Given the description of an element on the screen output the (x, y) to click on. 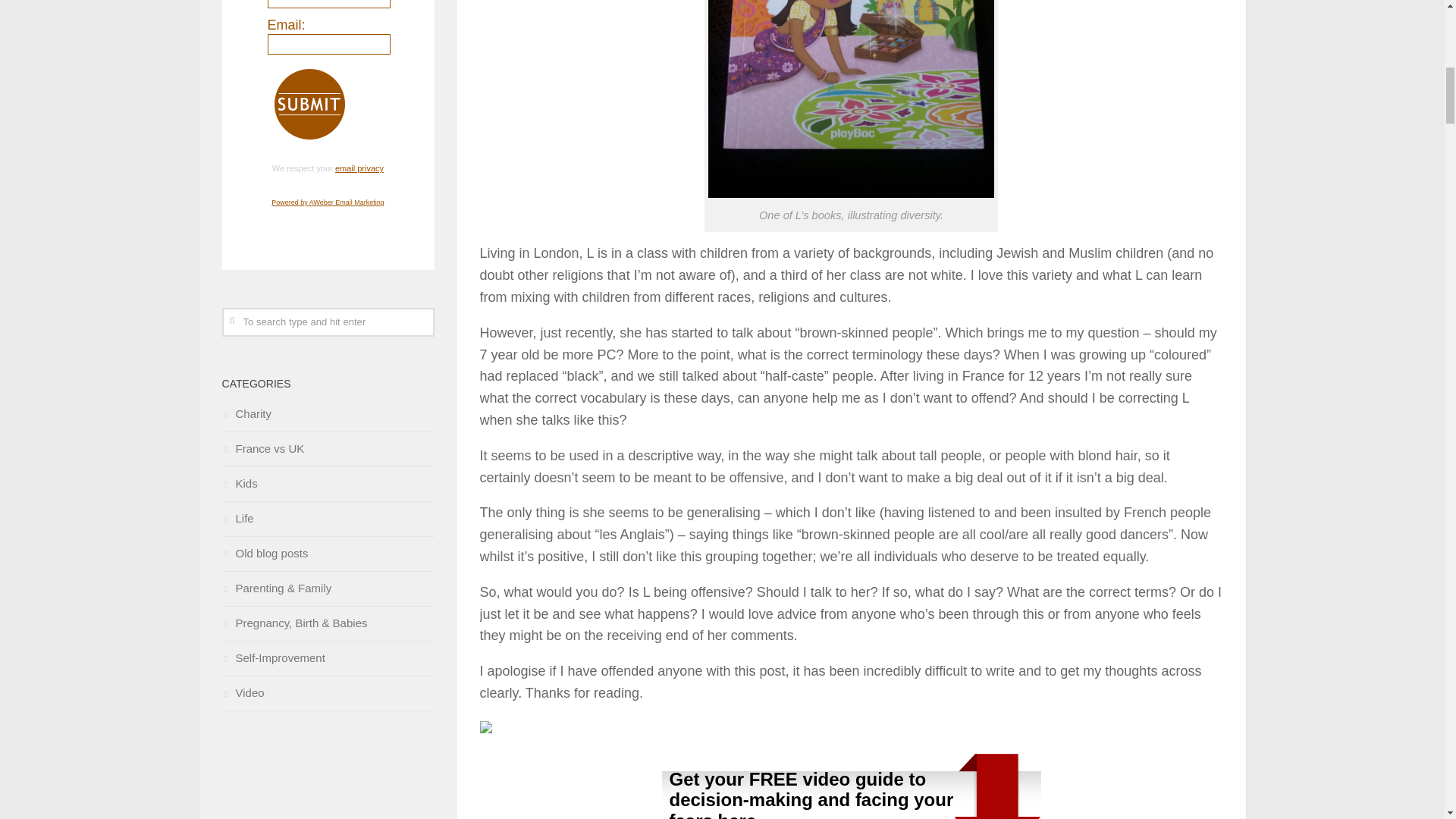
To search type and hit enter (327, 321)
Privacy Policy (359, 167)
To search type and hit enter (327, 321)
